Given the description of an element on the screen output the (x, y) to click on. 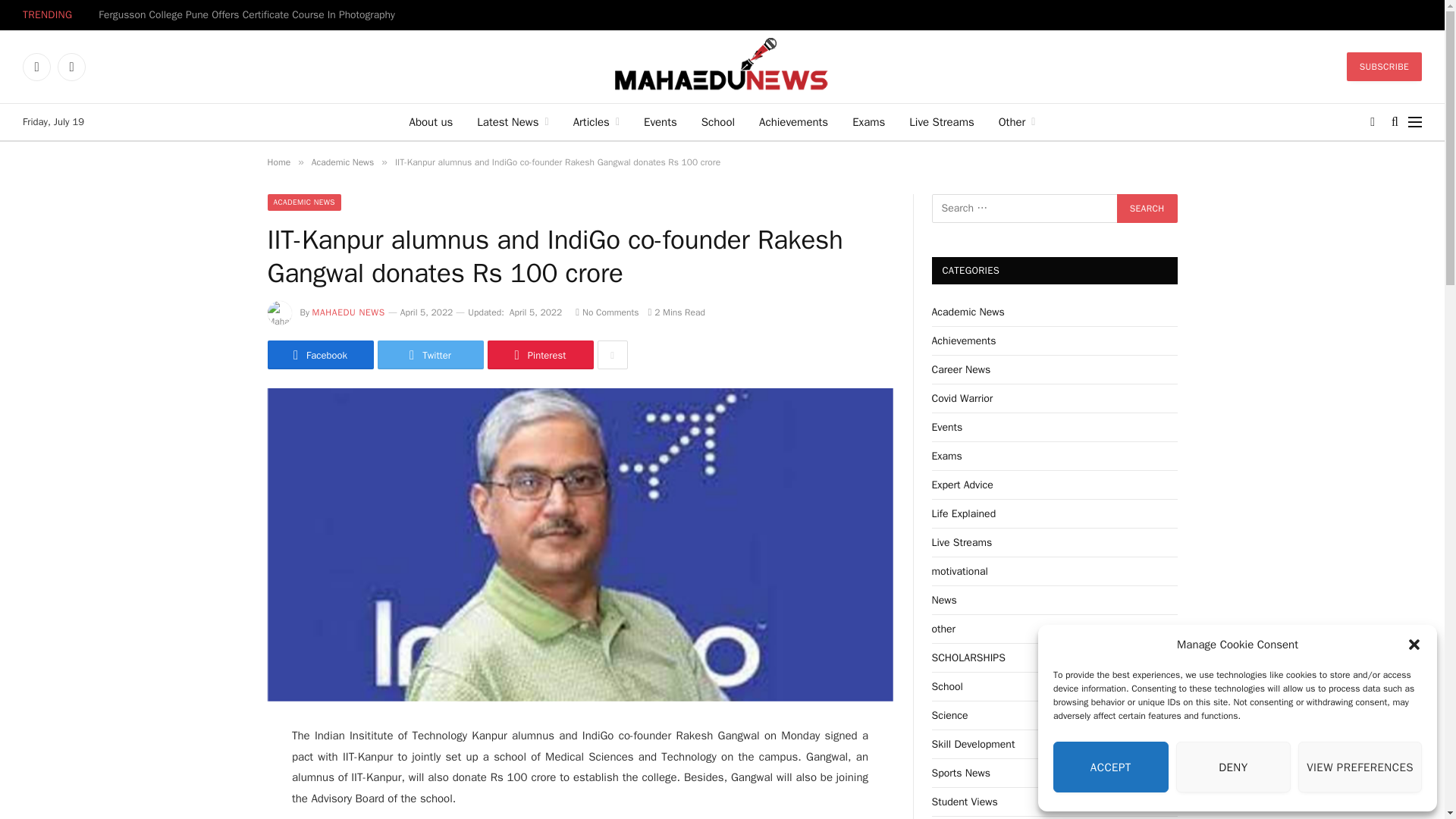
Search (1146, 208)
Search (1146, 208)
VIEW PREFERENCES (1360, 767)
DENY (1233, 767)
ACCEPT (1110, 767)
Mahaedu News (721, 66)
